Given the description of an element on the screen output the (x, y) to click on. 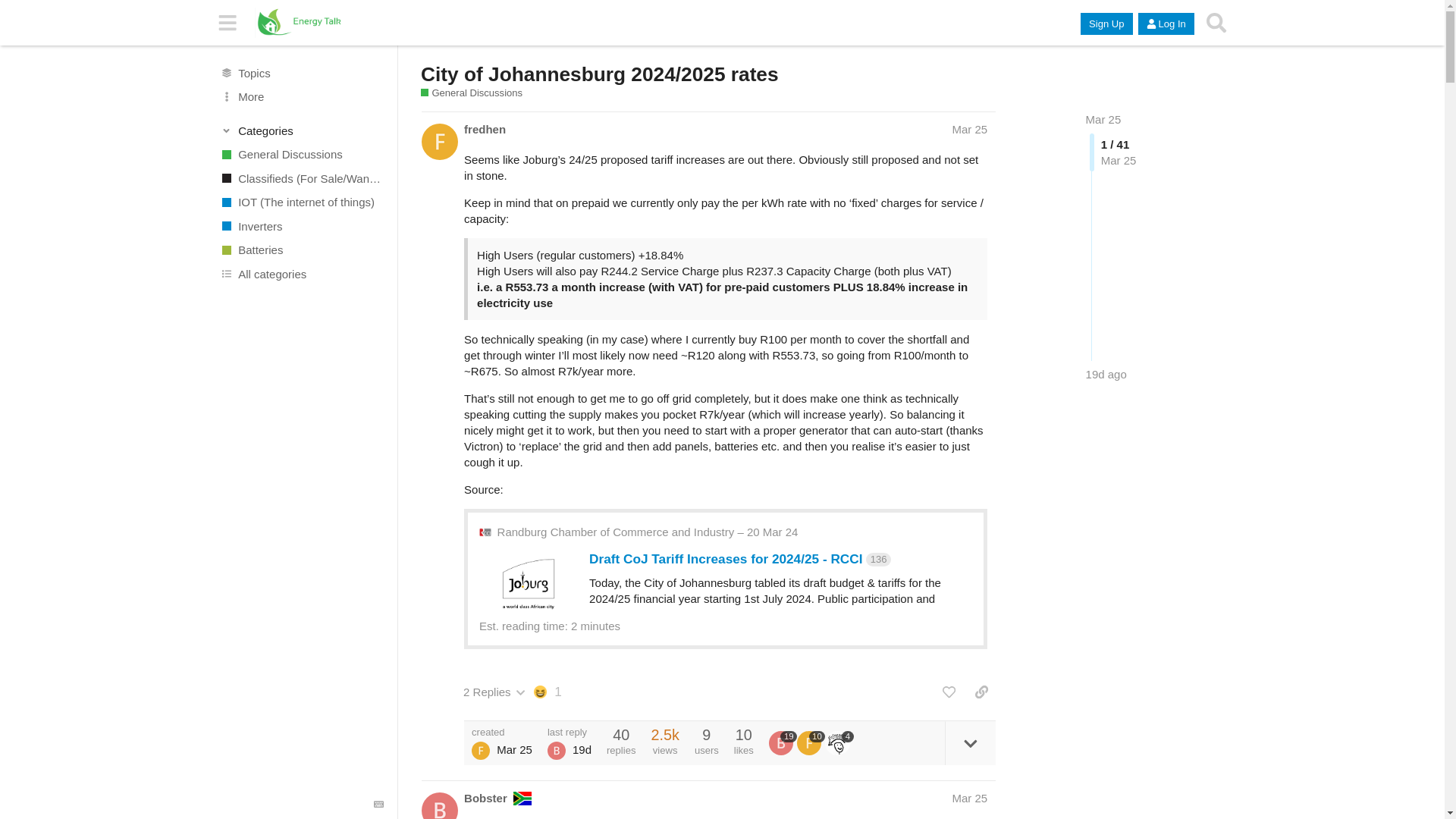
For any general and even non solar related discussions. (471, 92)
General Discussions (301, 154)
19d ago (1106, 374)
Post date (969, 128)
last reply (569, 732)
Batteries (301, 250)
Sign Up (1106, 24)
Mar 25 (1103, 119)
Toggle section (301, 130)
More (301, 96)
For any general and even non solar related discussions. (301, 154)
For all your Battery related threads. (301, 250)
Inverters (301, 225)
06:55AM - 20 March 2024 (647, 531)
2 Replies (493, 691)
